Given the description of an element on the screen output the (x, y) to click on. 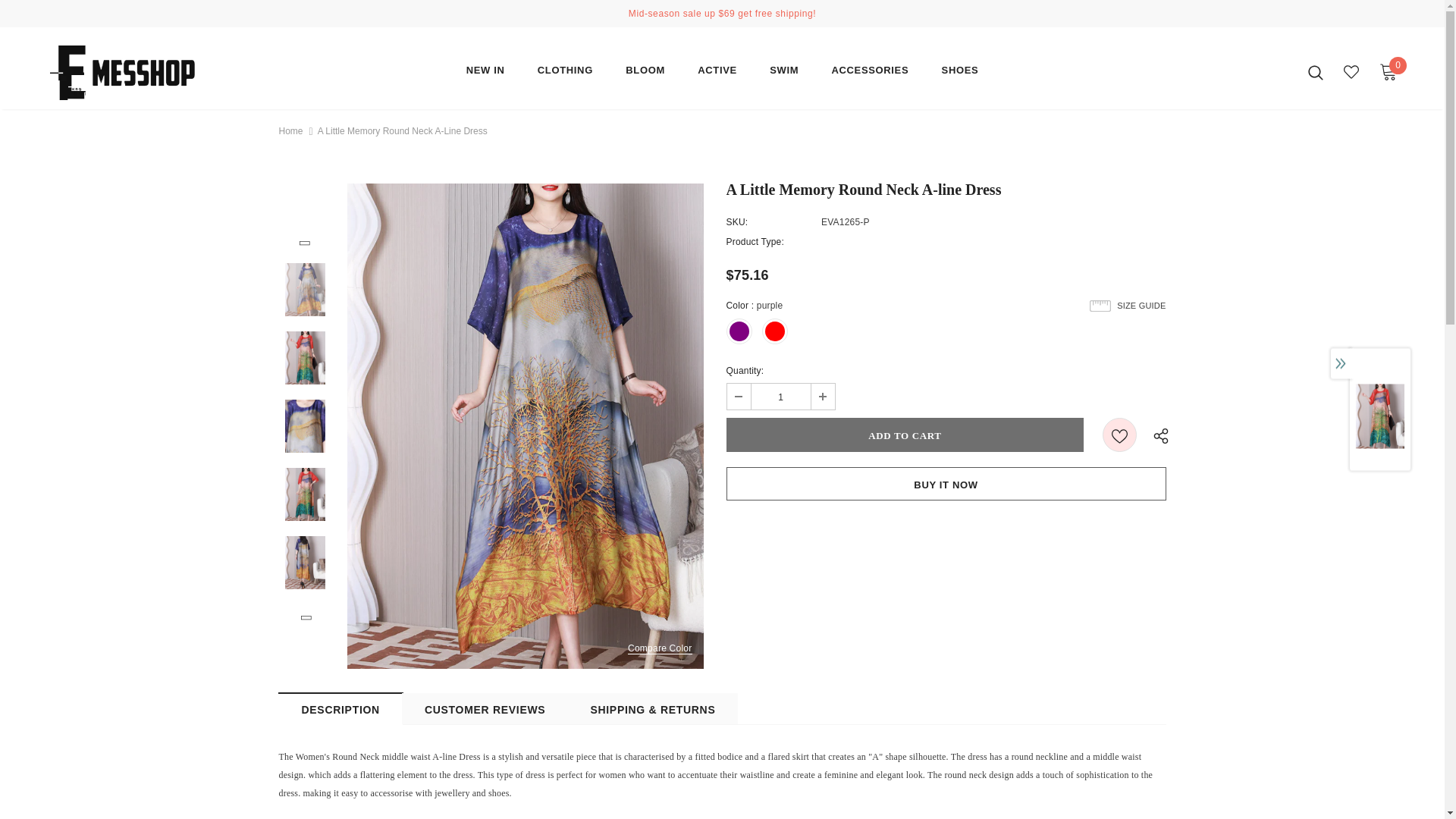
Add to cart (905, 434)
CLOTHING (564, 73)
NEW IN (485, 73)
1 (780, 396)
BLOOM (645, 73)
ACTIVE (716, 73)
ACCESSORIES (869, 73)
